Given the description of an element on the screen output the (x, y) to click on. 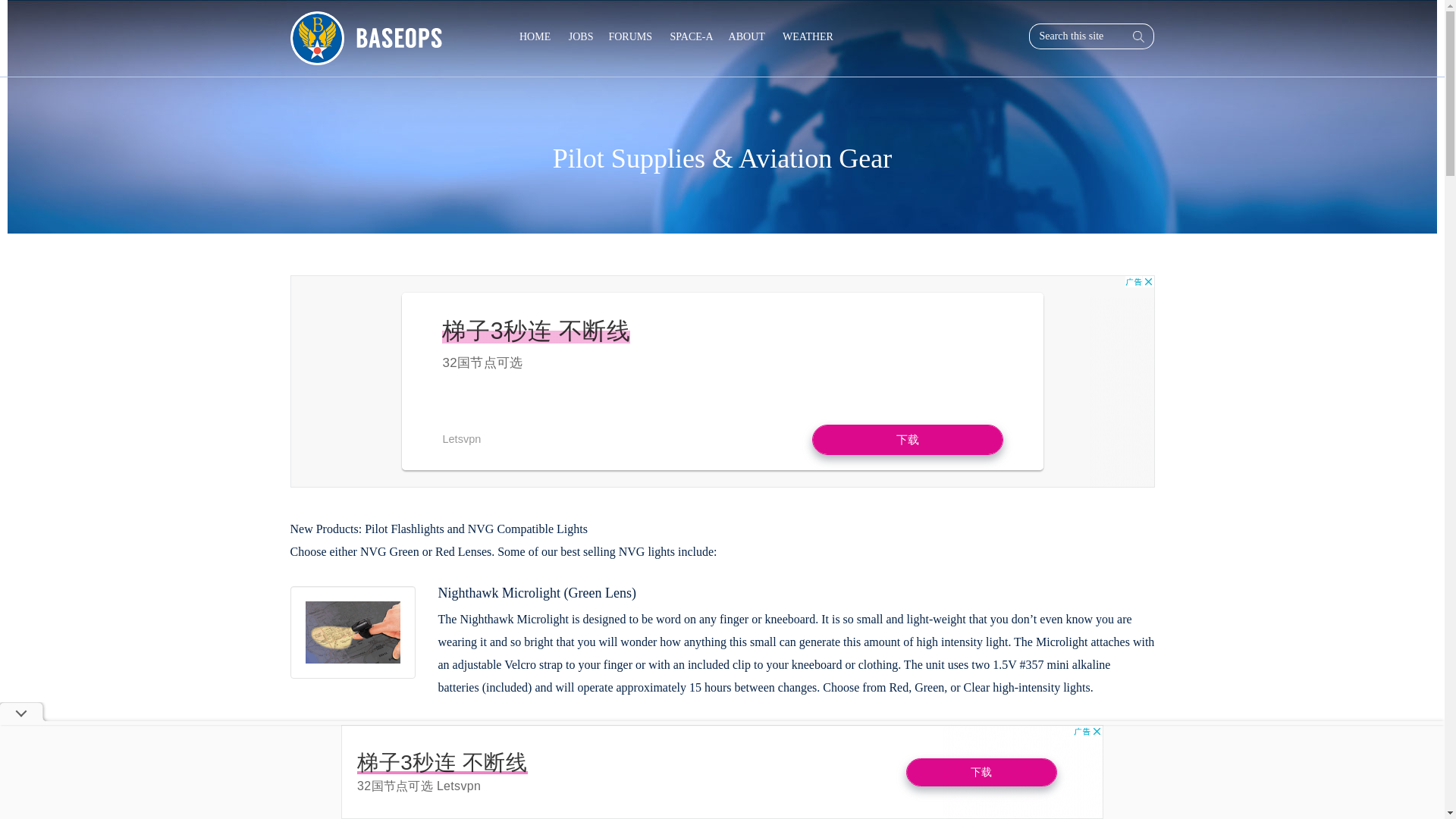
Search this site (1075, 36)
Space-A (689, 36)
Jobs (578, 36)
ABOUT (746, 36)
About (746, 36)
 WEATHER (807, 36)
Baseops (370, 38)
 SPACE-A (689, 36)
Weather (807, 36)
 JOBS (578, 36)
Forums (629, 36)
FORUMS (629, 36)
Home (534, 36)
HOME (534, 36)
